Given the description of an element on the screen output the (x, y) to click on. 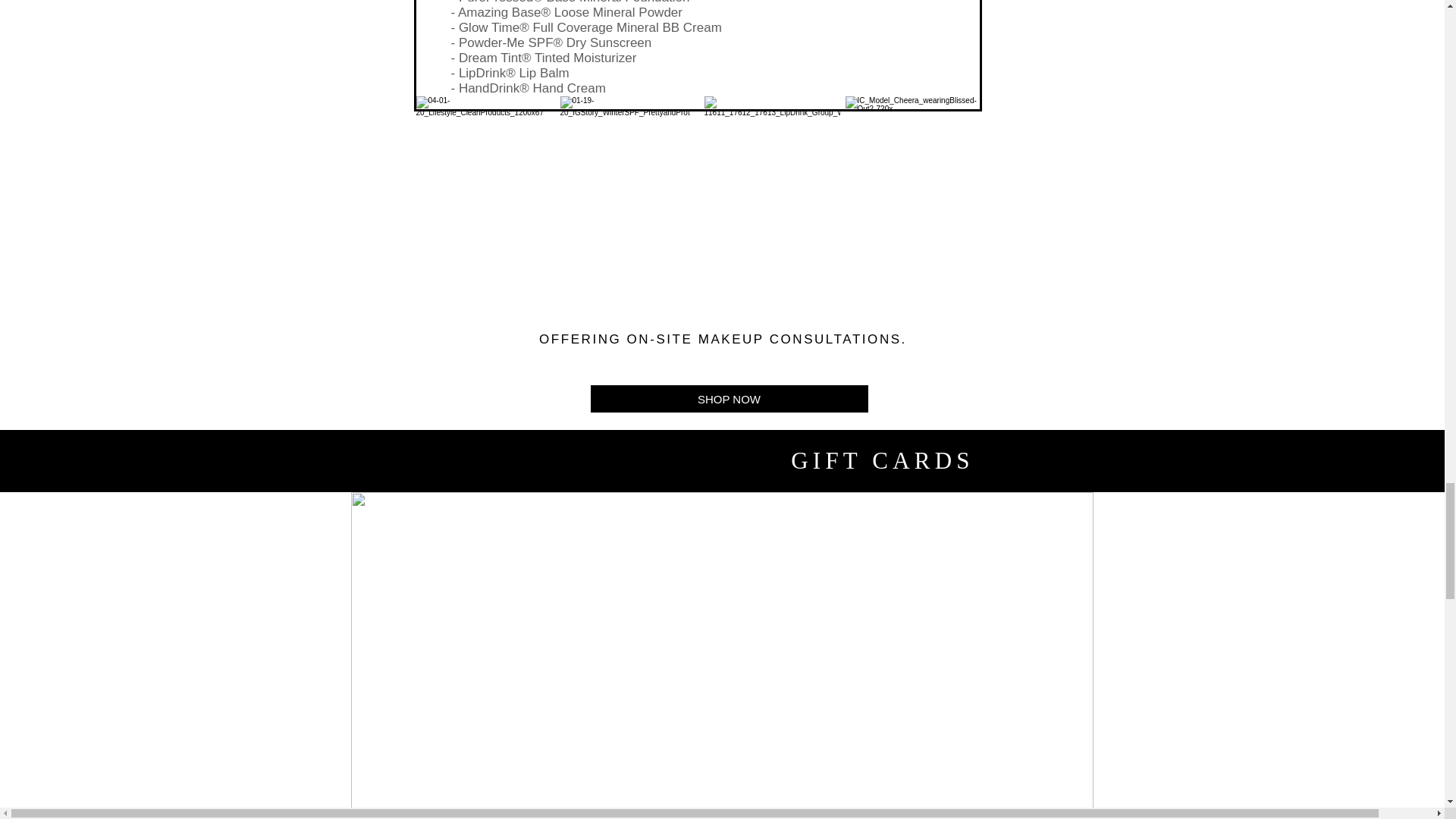
SHOP NOW (728, 398)
Green Eyed Girl (911, 164)
Natural Lip Gloss (626, 164)
